Given the description of an element on the screen output the (x, y) to click on. 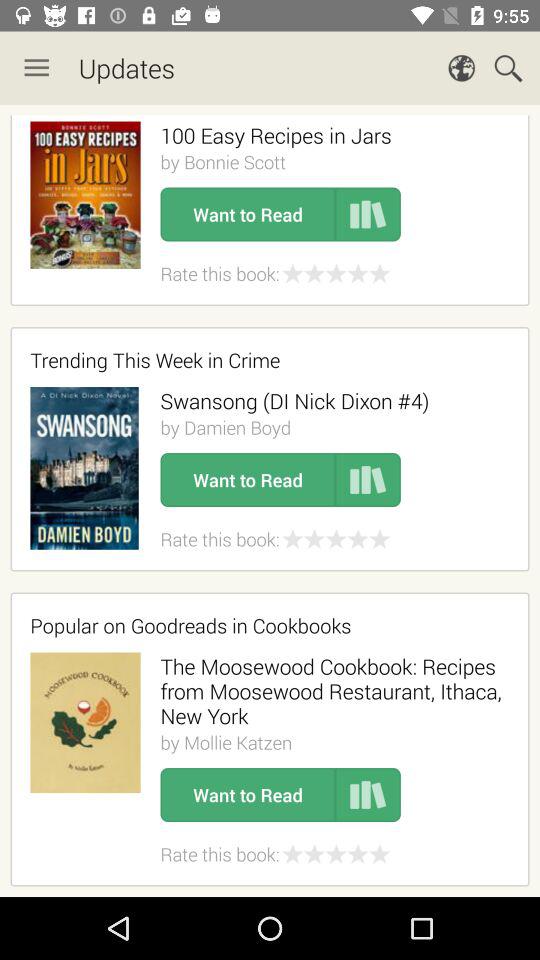
open icon below trending this week icon (294, 400)
